Given the description of an element on the screen output the (x, y) to click on. 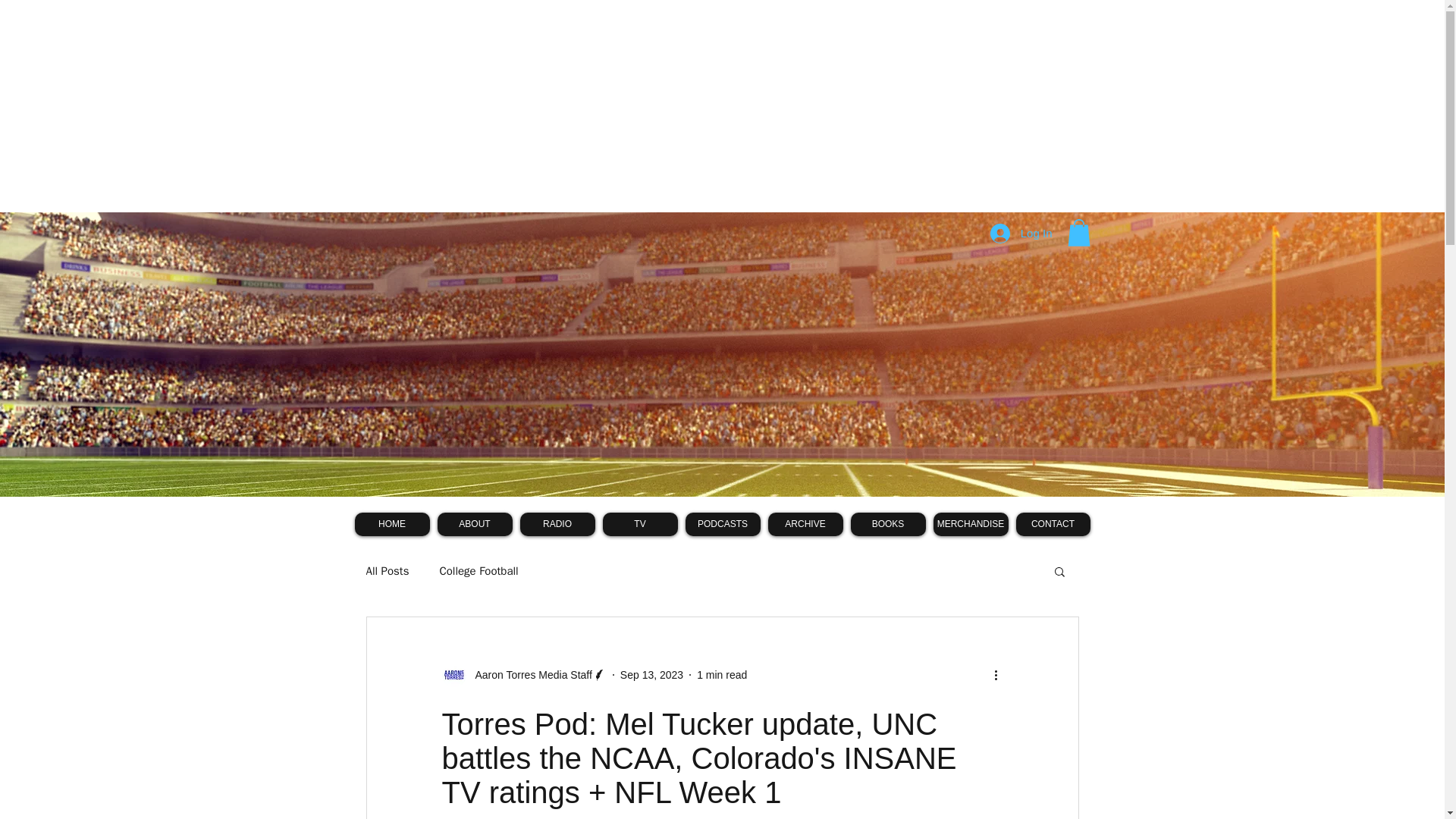
RADIO (557, 524)
ABOUT (474, 524)
PODCASTS (722, 524)
CONTACT (1053, 524)
All Posts (387, 571)
College Football (478, 571)
ARCHIVE (805, 524)
Log In (1020, 232)
HOME (392, 524)
1 min read (721, 674)
Sep 13, 2023 (651, 674)
MERCHANDISE (970, 524)
BOOKS (888, 524)
Aaron Torres Media Staff (528, 675)
